Given the description of an element on the screen output the (x, y) to click on. 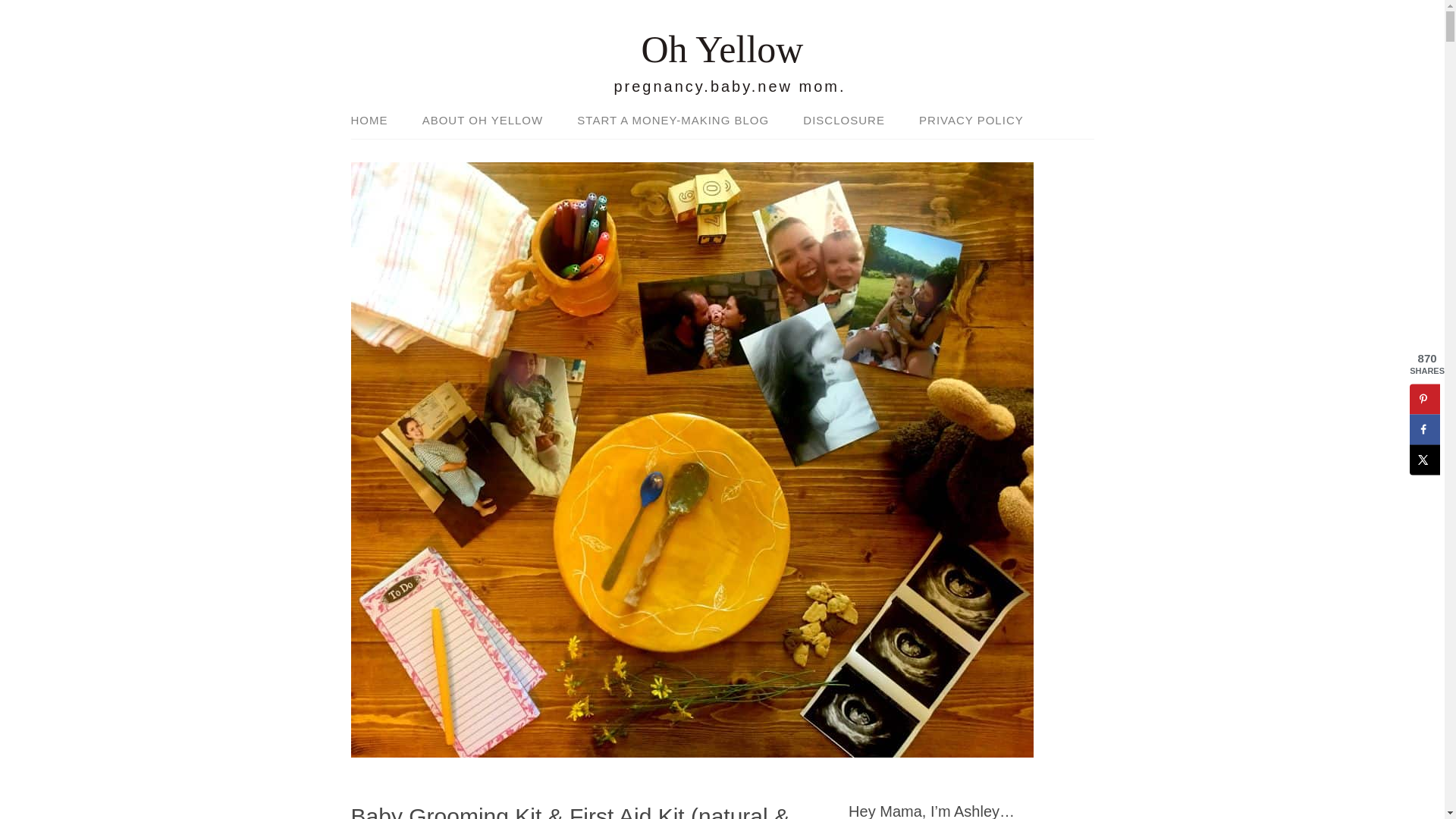
DISCLOSURE (843, 120)
Oh Yellow (722, 48)
Oh Yellow (722, 48)
HOME (376, 120)
PRIVACY POLICY (963, 120)
START A MONEY-MAKING BLOG (673, 120)
ABOUT OH YELLOW (483, 120)
